Given the description of an element on the screen output the (x, y) to click on. 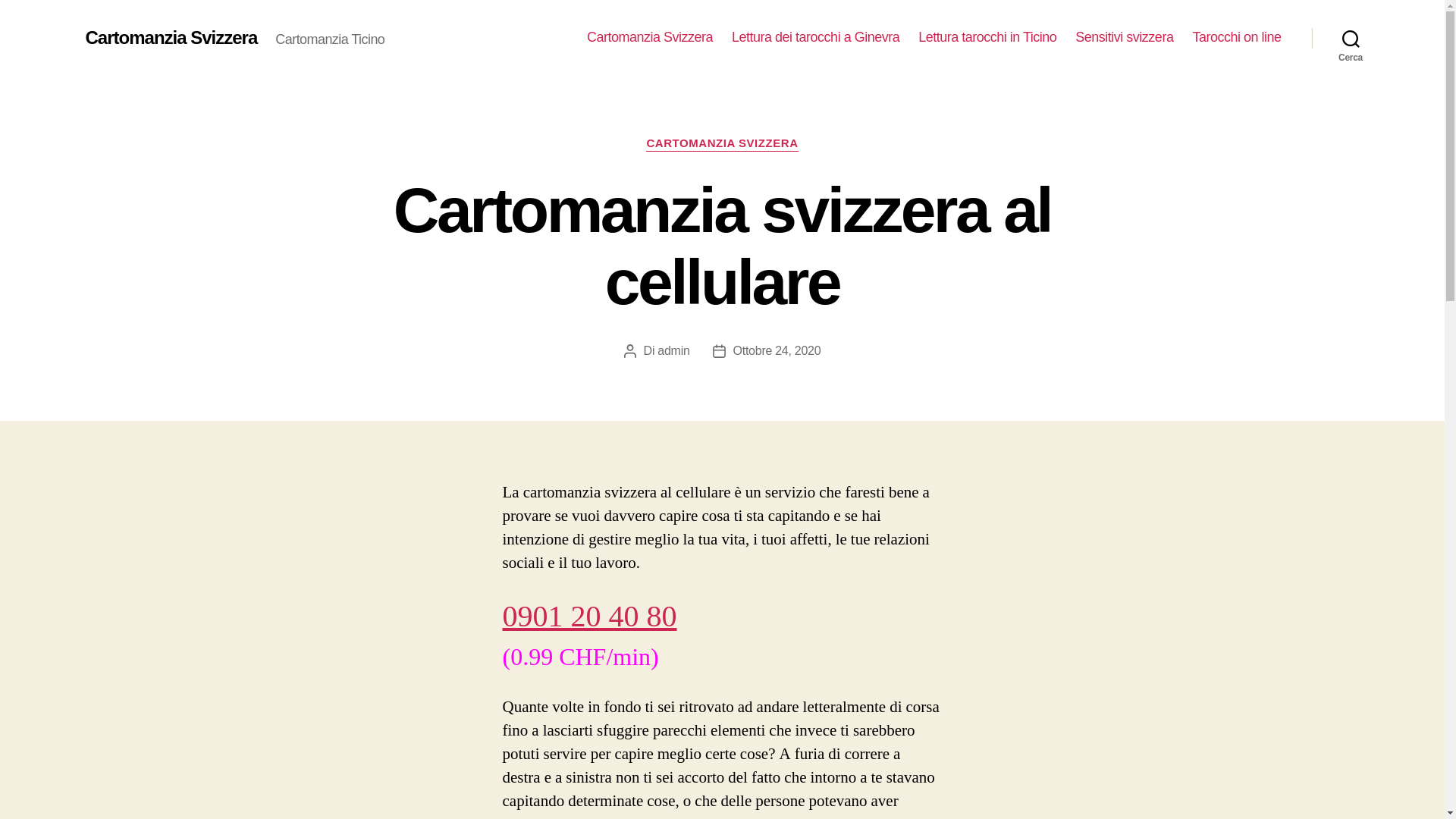
Ottobre 24, 2020 Element type: text (777, 350)
Lettura tarocchi in Ticino Element type: text (987, 37)
Cartomanzia Svizzera Element type: text (649, 37)
Tarocchi on line Element type: text (1236, 37)
Cerca Element type: text (1350, 37)
Cartomanzia Svizzera Element type: text (170, 37)
0901 20 40 80 Element type: text (589, 617)
Sensitivi svizzera Element type: text (1124, 37)
CARTOMANZIA SVIZZERA Element type: text (721, 143)
Lettura dei tarocchi a Ginevra Element type: text (815, 37)
admin Element type: text (673, 350)
